Given the description of an element on the screen output the (x, y) to click on. 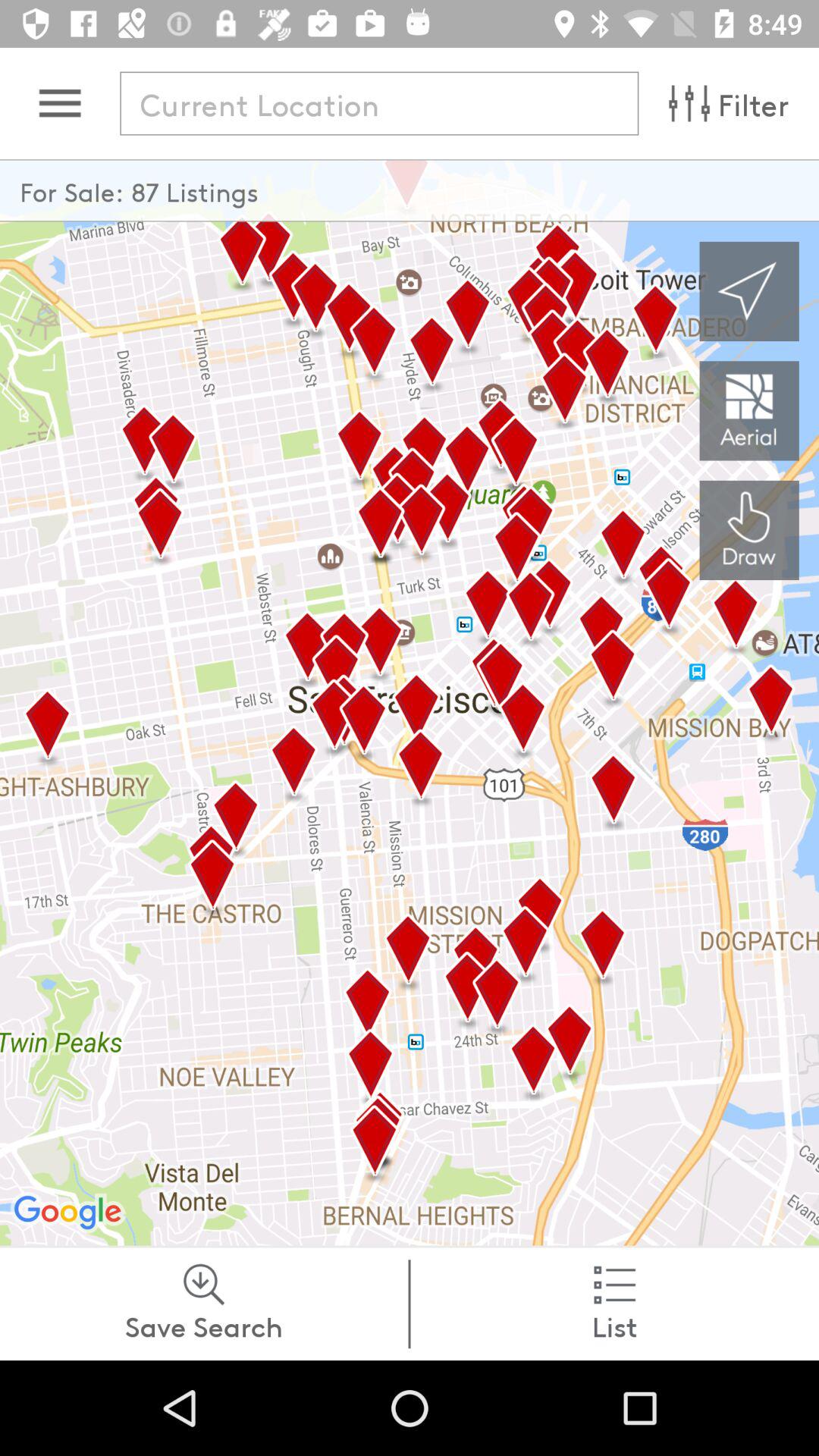
swipe to save search item (204, 1303)
